Given the description of an element on the screen output the (x, y) to click on. 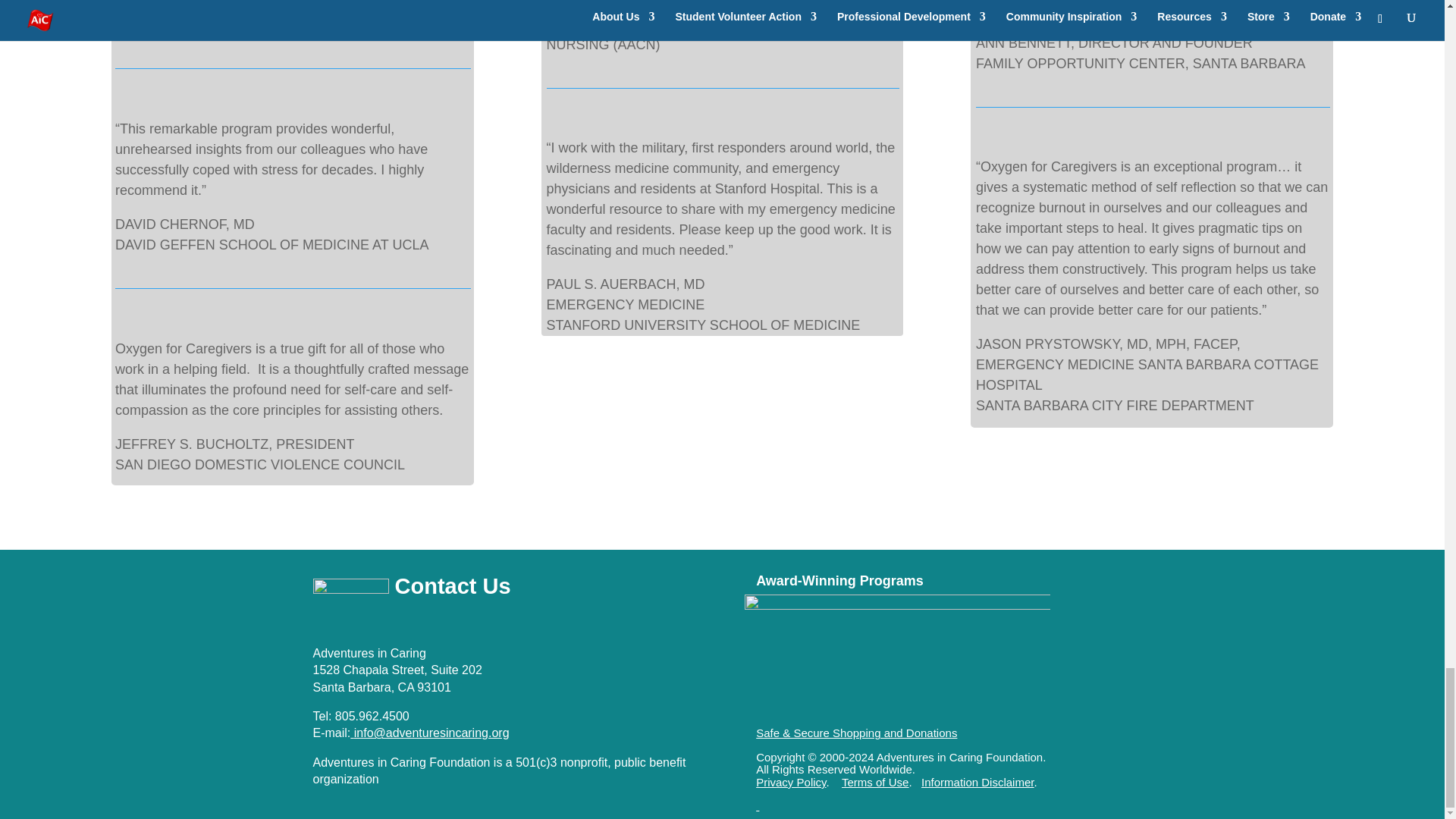
rotary-club-600x250-1 (896, 657)
